Given the description of an element on the screen output the (x, y) to click on. 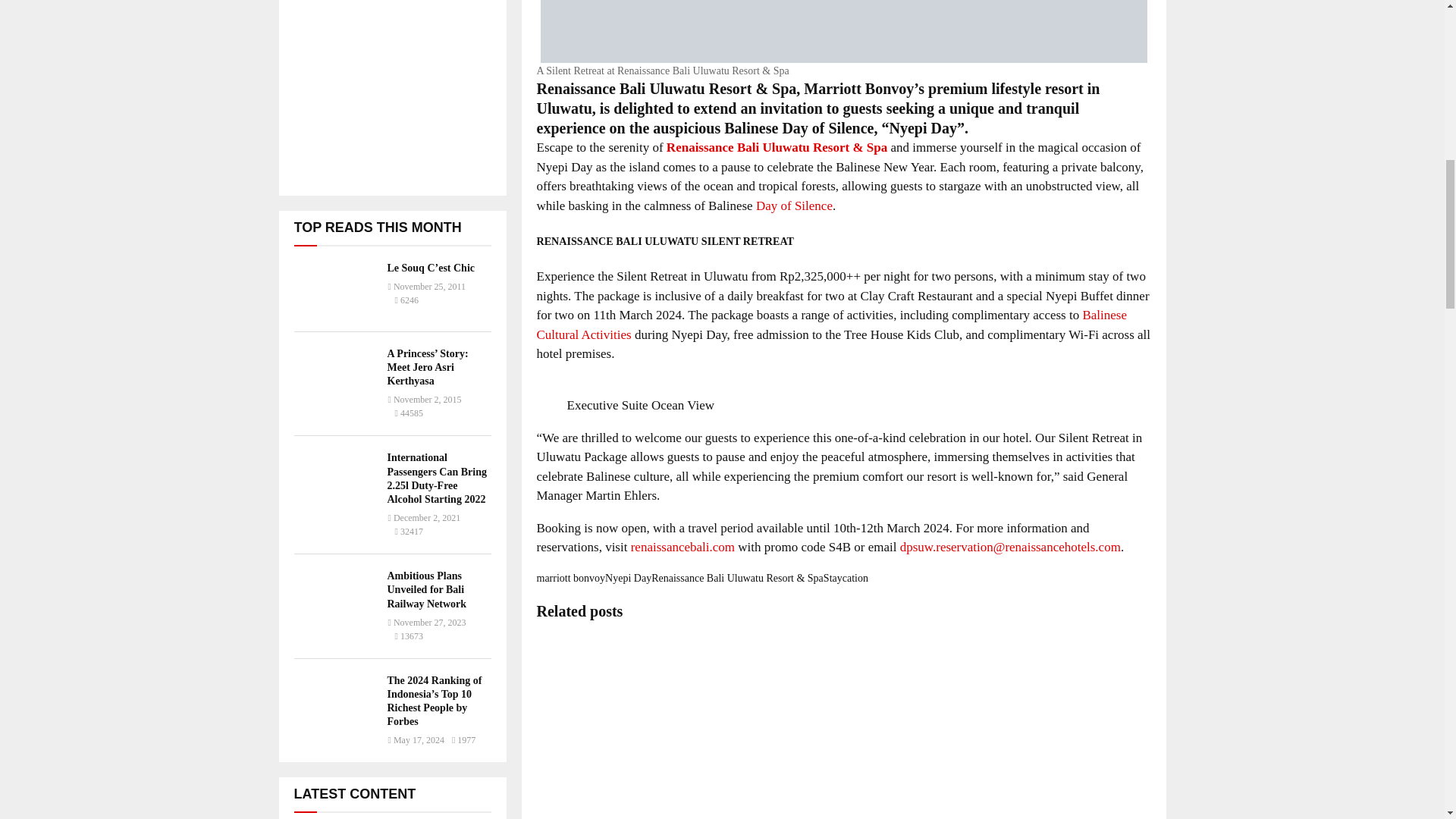
 Ambitious Plans Unveiled for Bali Railway Network  (426, 589)
